Given the description of an element on the screen output the (x, y) to click on. 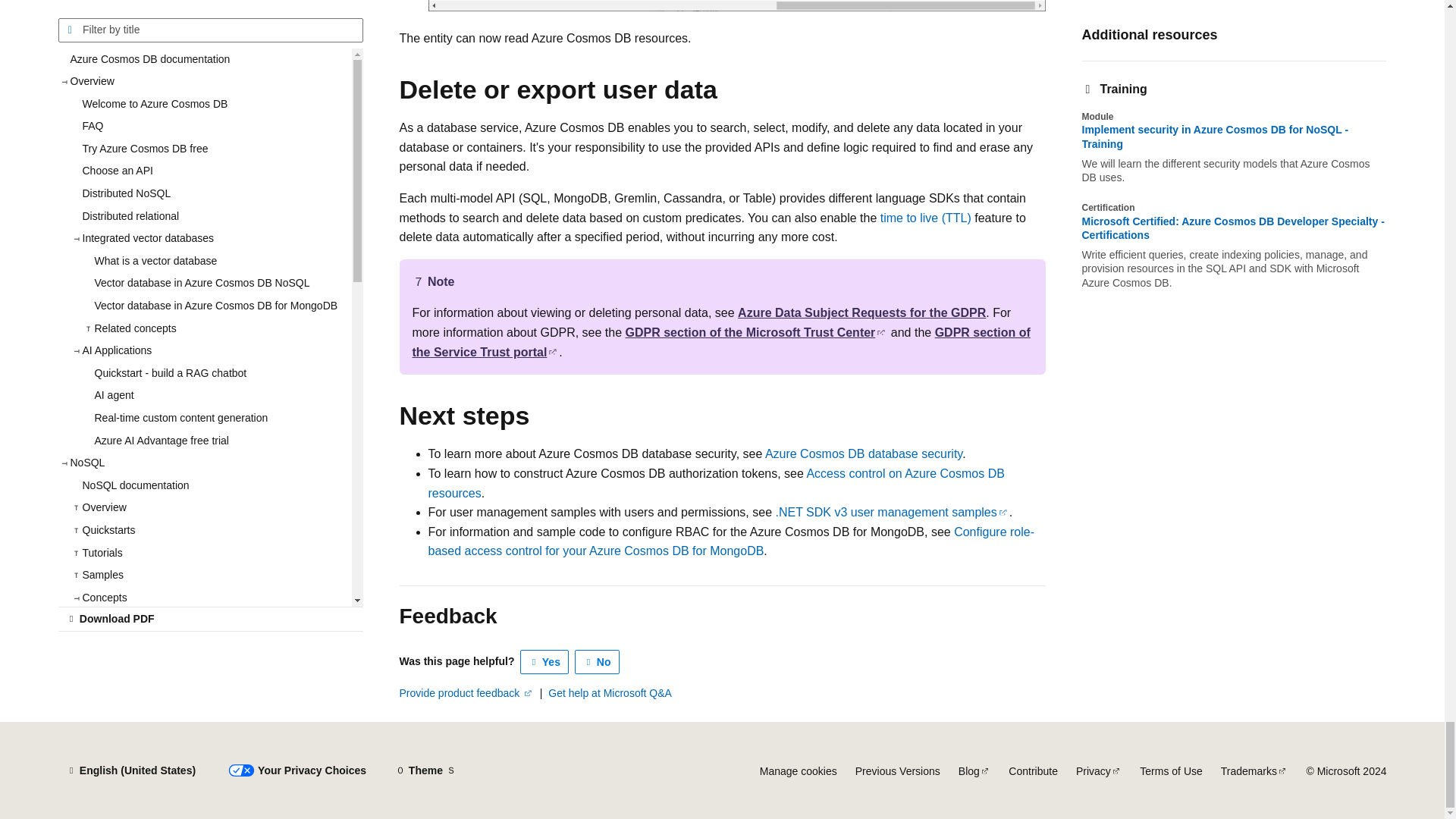
This article is helpful (544, 662)
This article is not helpful (597, 662)
Theme (425, 770)
